Given the description of an element on the screen output the (x, y) to click on. 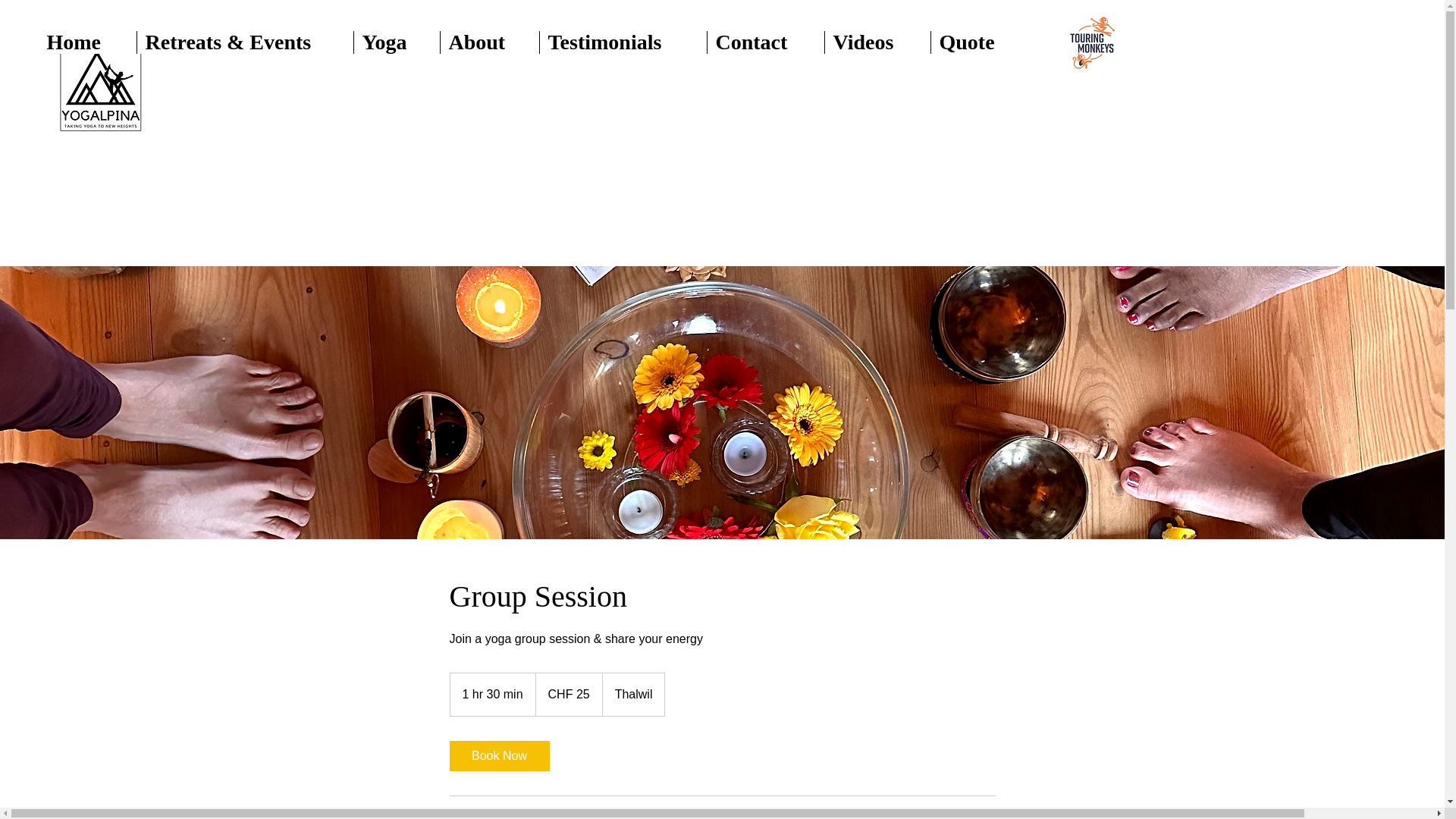
Videos (877, 42)
YOGALPINA LOGO NEW.jpg (100, 88)
Contact (765, 42)
Testimonials (622, 42)
Book Now (498, 756)
Quote (980, 42)
About (488, 42)
Yoga (396, 42)
Home (87, 42)
